Given the description of an element on the screen output the (x, y) to click on. 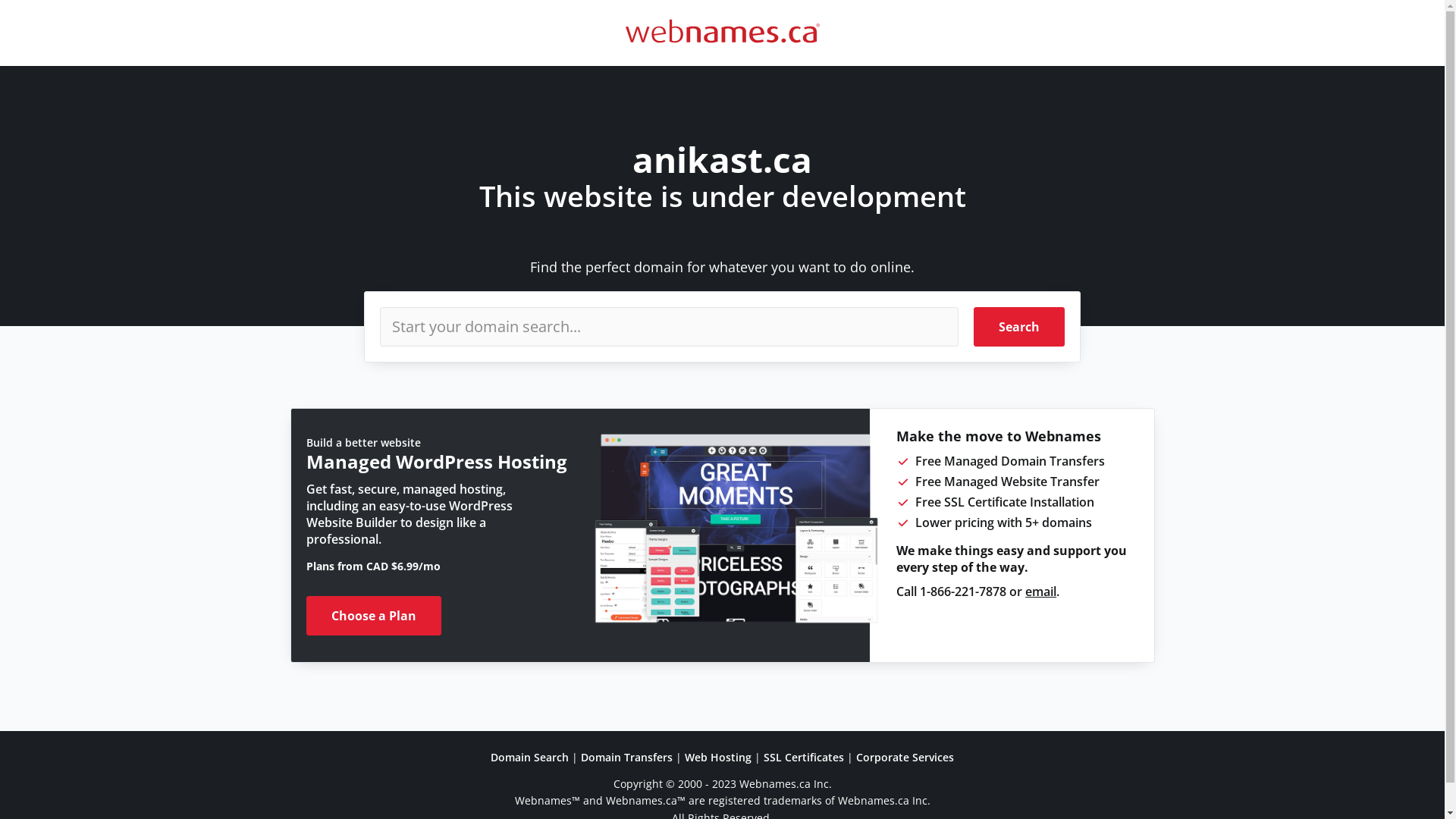
Corporate Services Element type: text (904, 756)
1-866-221-7878 Element type: text (962, 591)
email Element type: text (1040, 591)
Domain Search Element type: text (529, 756)
Choose a Plan Element type: text (373, 615)
Domain Transfers Element type: text (626, 756)
Search Element type: text (1018, 326)
SSL Certificates Element type: text (803, 756)
Web Hosting Element type: text (717, 756)
